Given the description of an element on the screen output the (x, y) to click on. 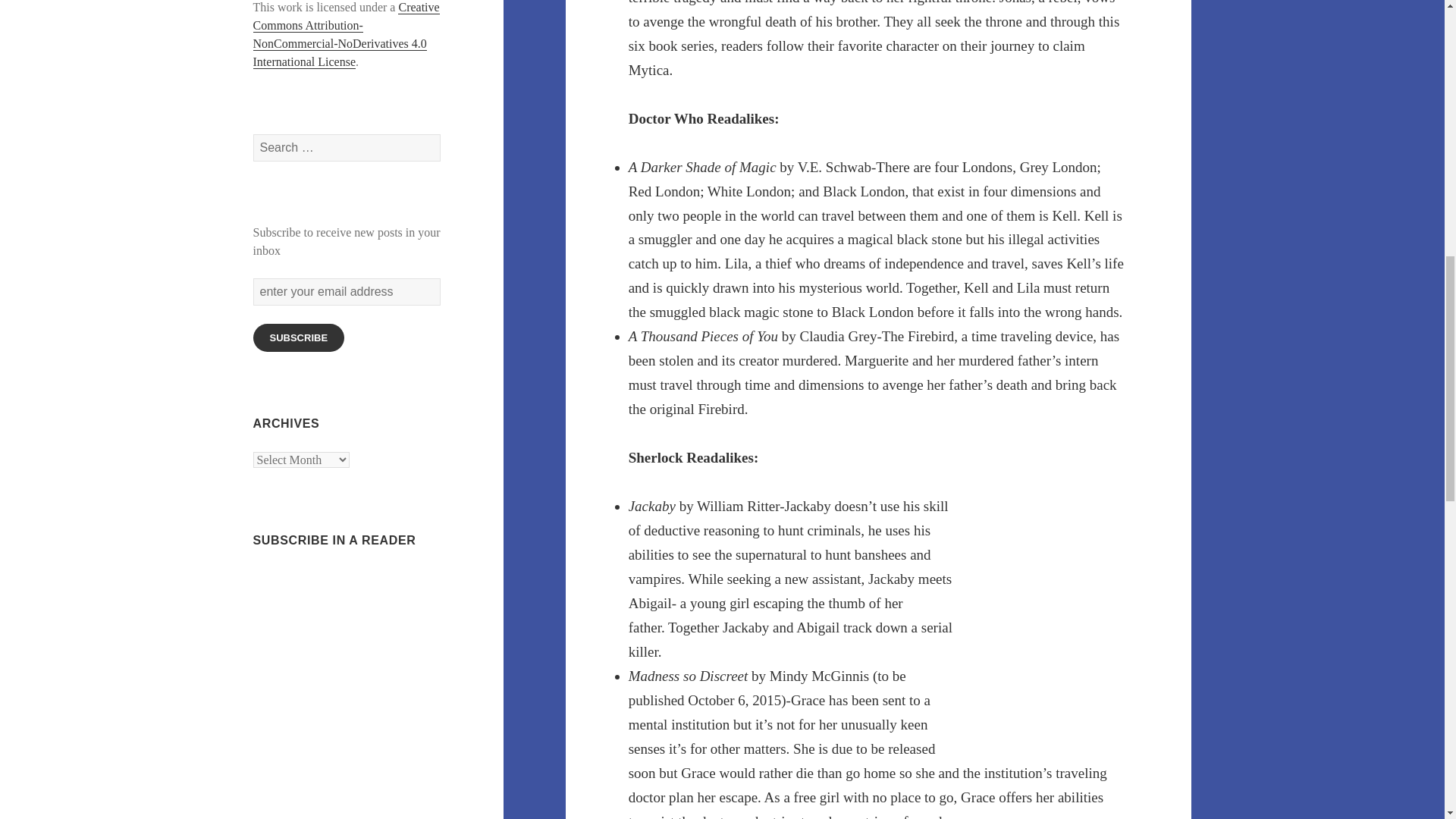
SUBSCRIBE (299, 337)
